Given the description of an element on the screen output the (x, y) to click on. 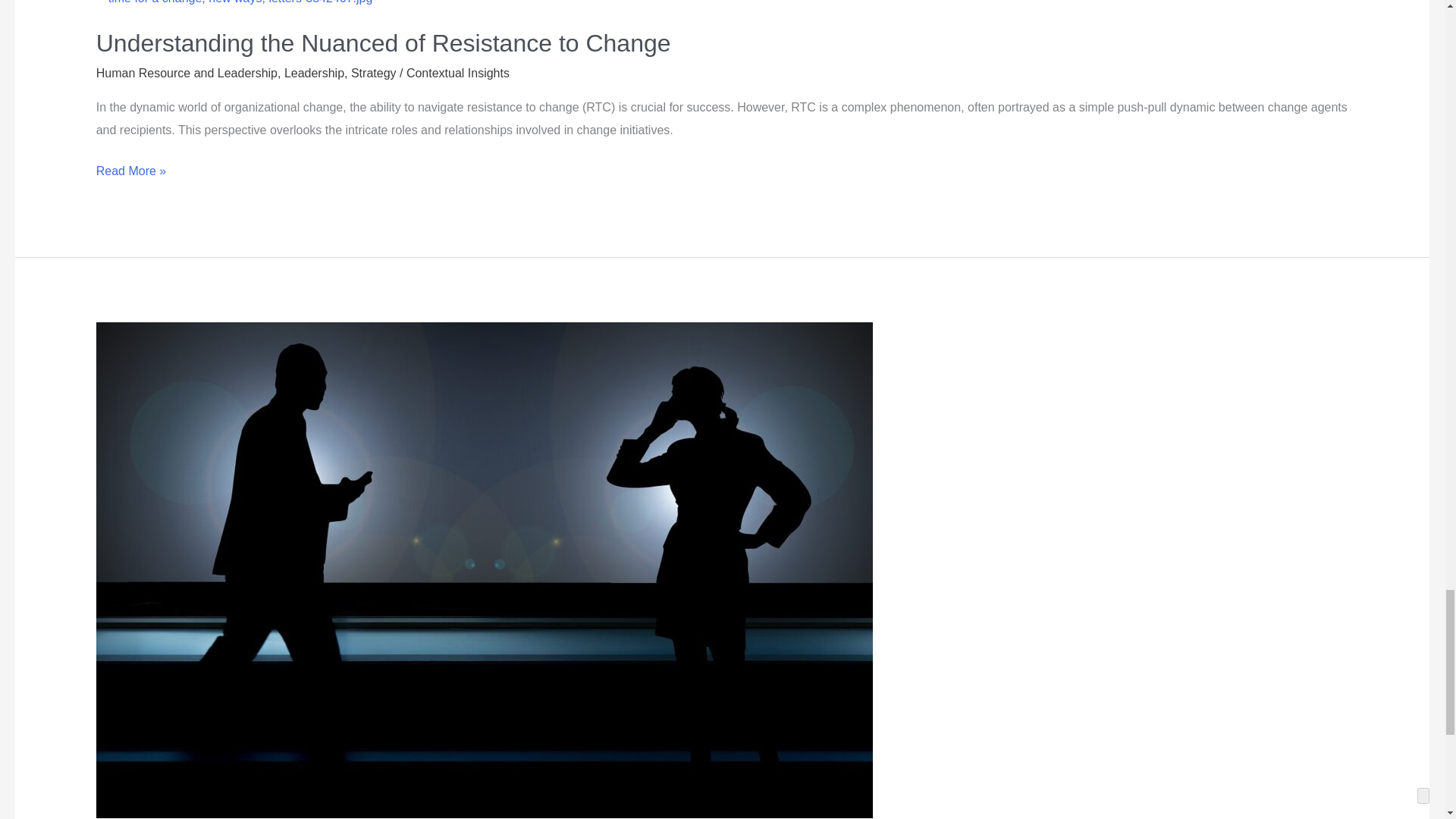
View all posts by Contextual Insights (457, 72)
